Given the description of an element on the screen output the (x, y) to click on. 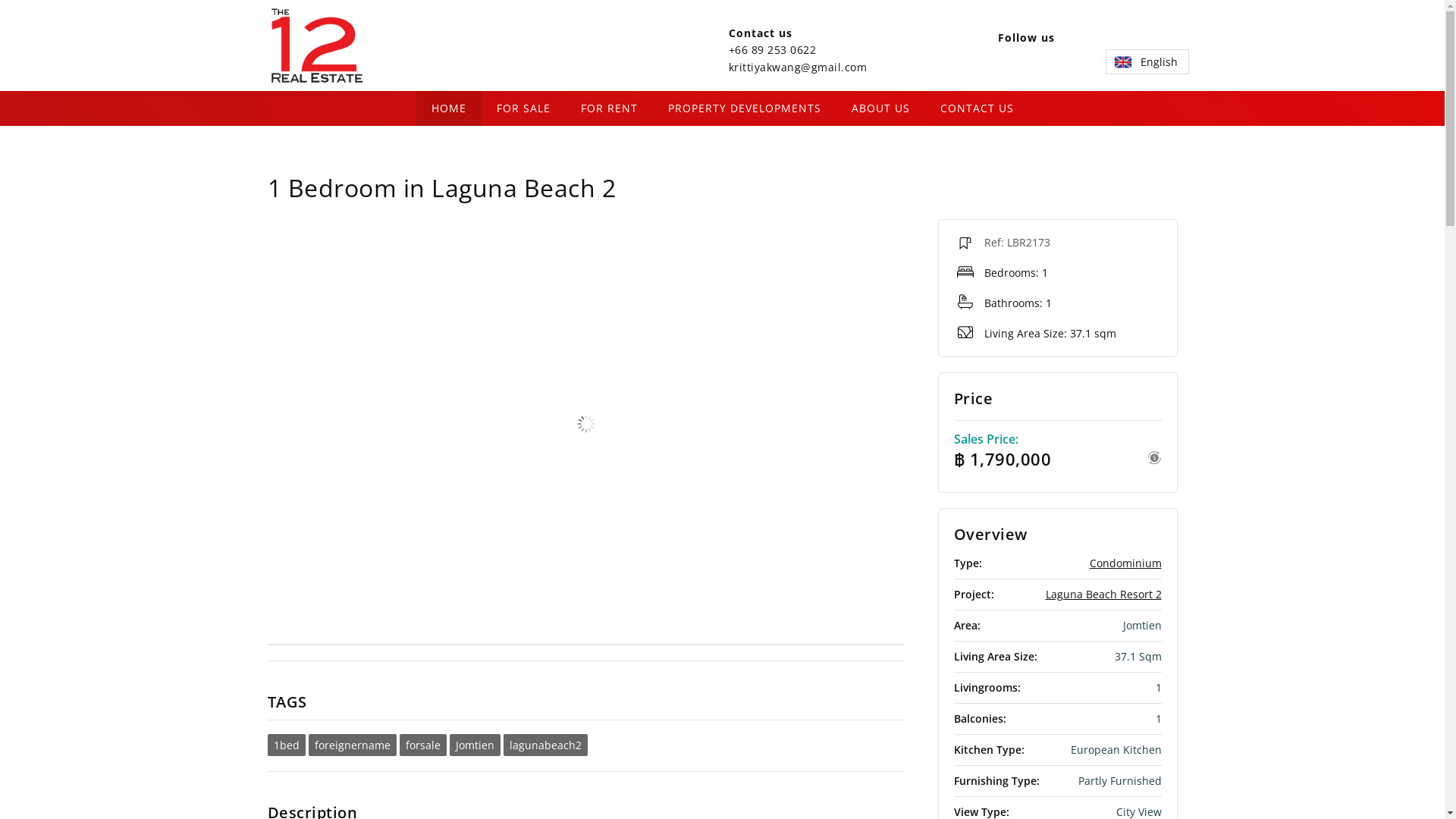
lagunabeach2 Element type: text (545, 744)
FOR SALE Element type: text (522, 108)
1bed Element type: text (285, 744)
foreignername Element type: text (351, 744)
Jomtien Element type: text (474, 744)
+66 89 253 0622 Element type: text (771, 49)
forsale Element type: text (421, 744)
ABOUT US Element type: text (879, 108)
Condominium Element type: text (1124, 562)
FOR RENT Element type: text (608, 108)
PROPERTY DEVELOPMENTS Element type: text (743, 108)
English Element type: text (1147, 61)
HOME Element type: text (447, 108)
Laguna Beach Resort 2 Element type: text (1102, 593)
krittiyakwang@gmail.com Element type: text (797, 66)
CONTACT US Element type: text (977, 108)
